Given the description of an element on the screen output the (x, y) to click on. 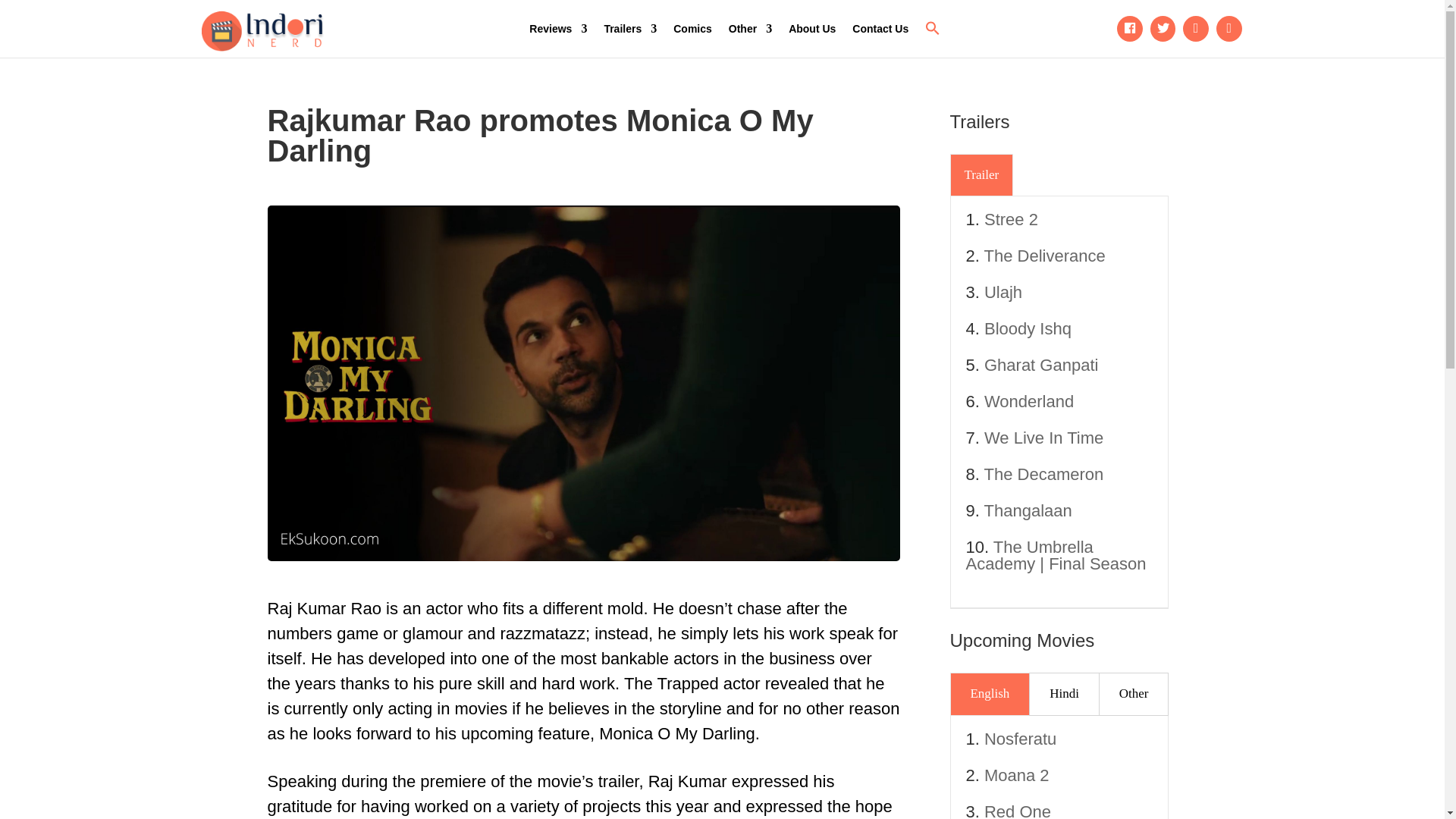
Facebook alt (1130, 28)
Reviews (557, 28)
Youtube (1195, 28)
Comics (691, 28)
Rss (1229, 28)
Other (750, 28)
Trailers (630, 28)
Contact Us (879, 28)
About Us (812, 28)
Twitter (1163, 28)
